Given the description of an element on the screen output the (x, y) to click on. 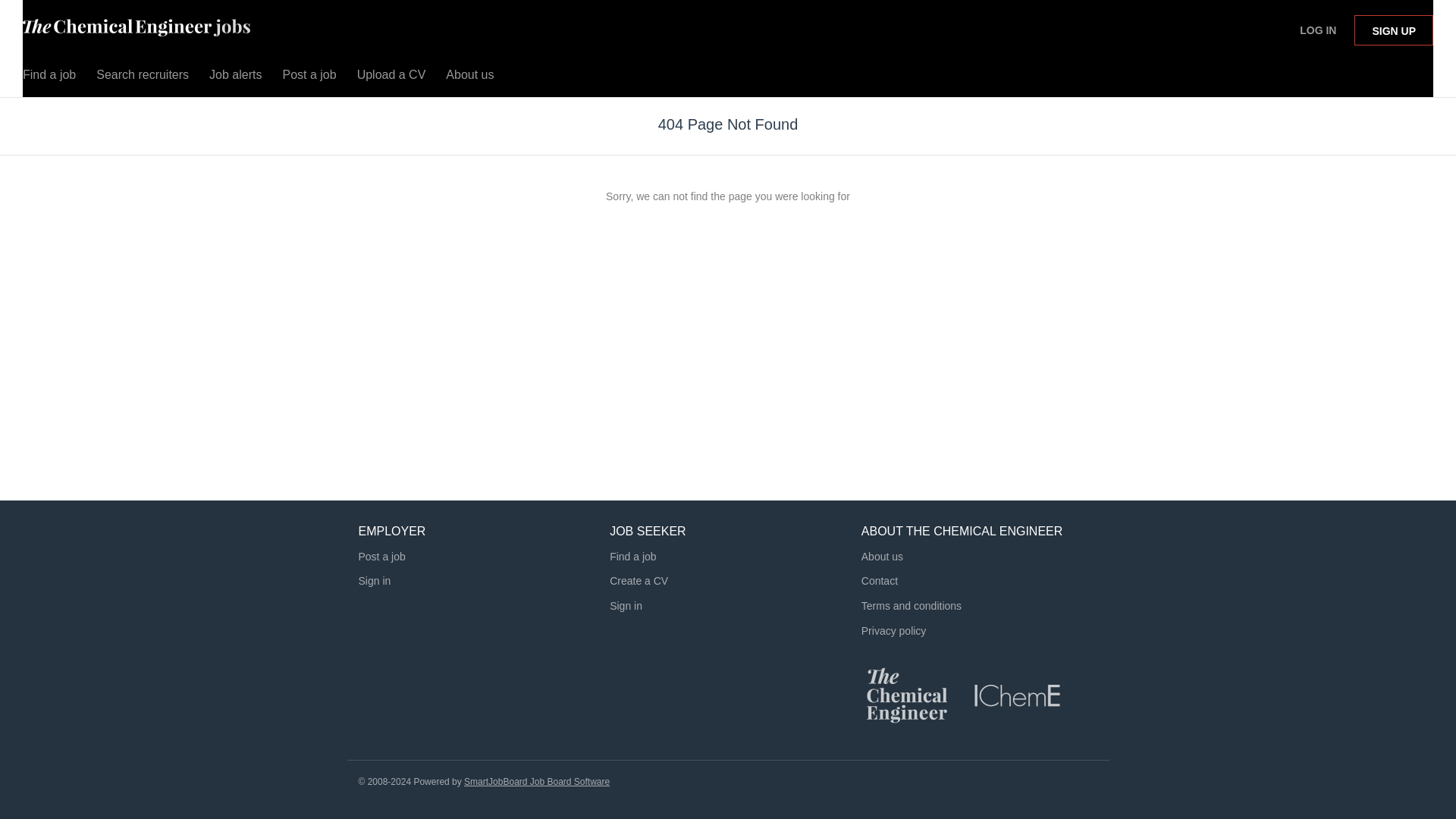
Find a job (48, 78)
Upload a CV (391, 78)
Post a job (309, 78)
About us (881, 556)
About us (469, 78)
Search recruiters (142, 78)
Create a CV (639, 580)
Sign in (374, 580)
Terms and conditions (910, 605)
Sign in (626, 605)
Post a job (381, 556)
Job alerts (235, 78)
SIGN UP (1393, 30)
LOG IN (1317, 30)
Privacy policy (893, 639)
